Given the description of an element on the screen output the (x, y) to click on. 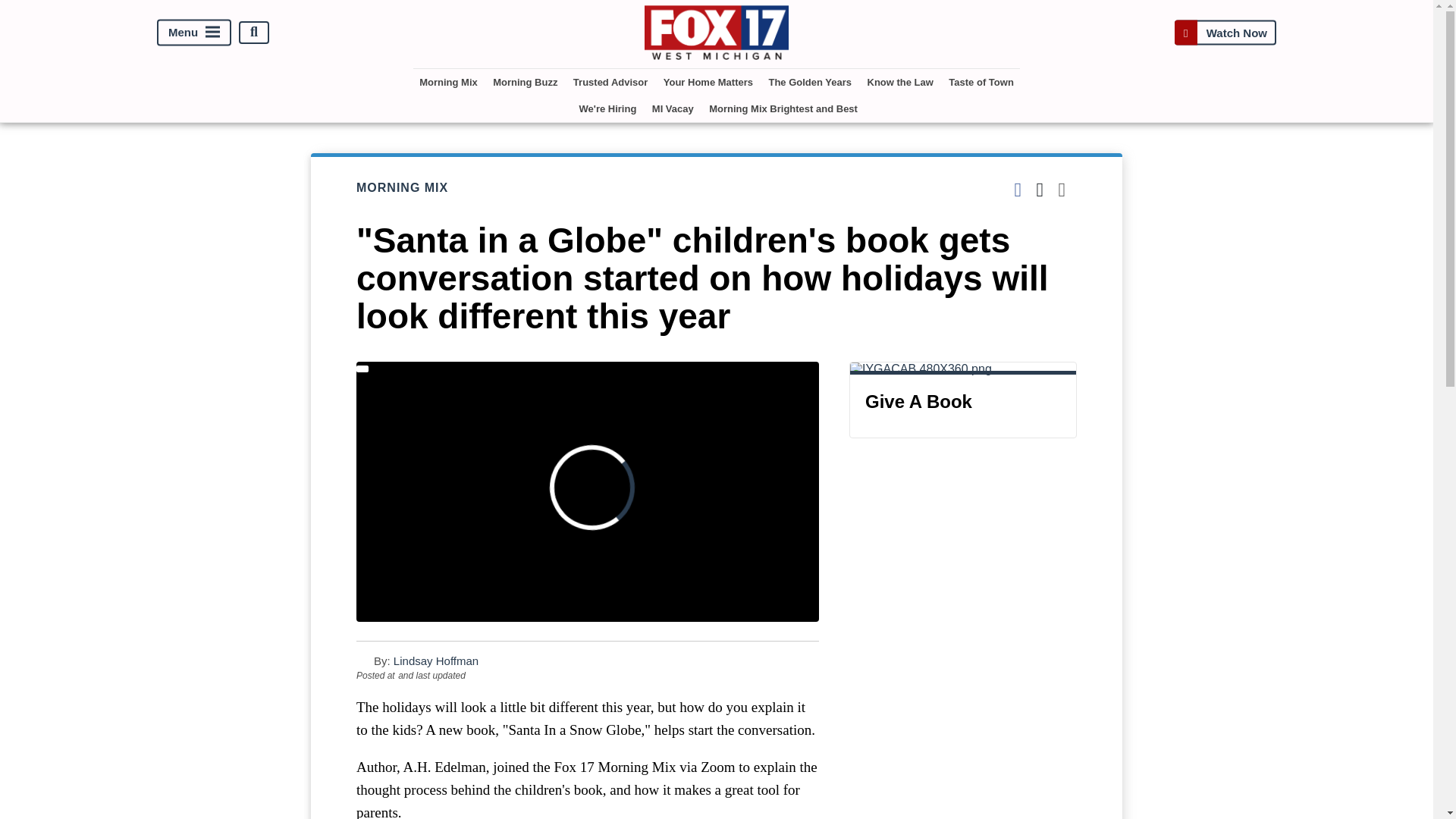
Menu (194, 31)
Watch Now (1224, 31)
